Given the description of an element on the screen output the (x, y) to click on. 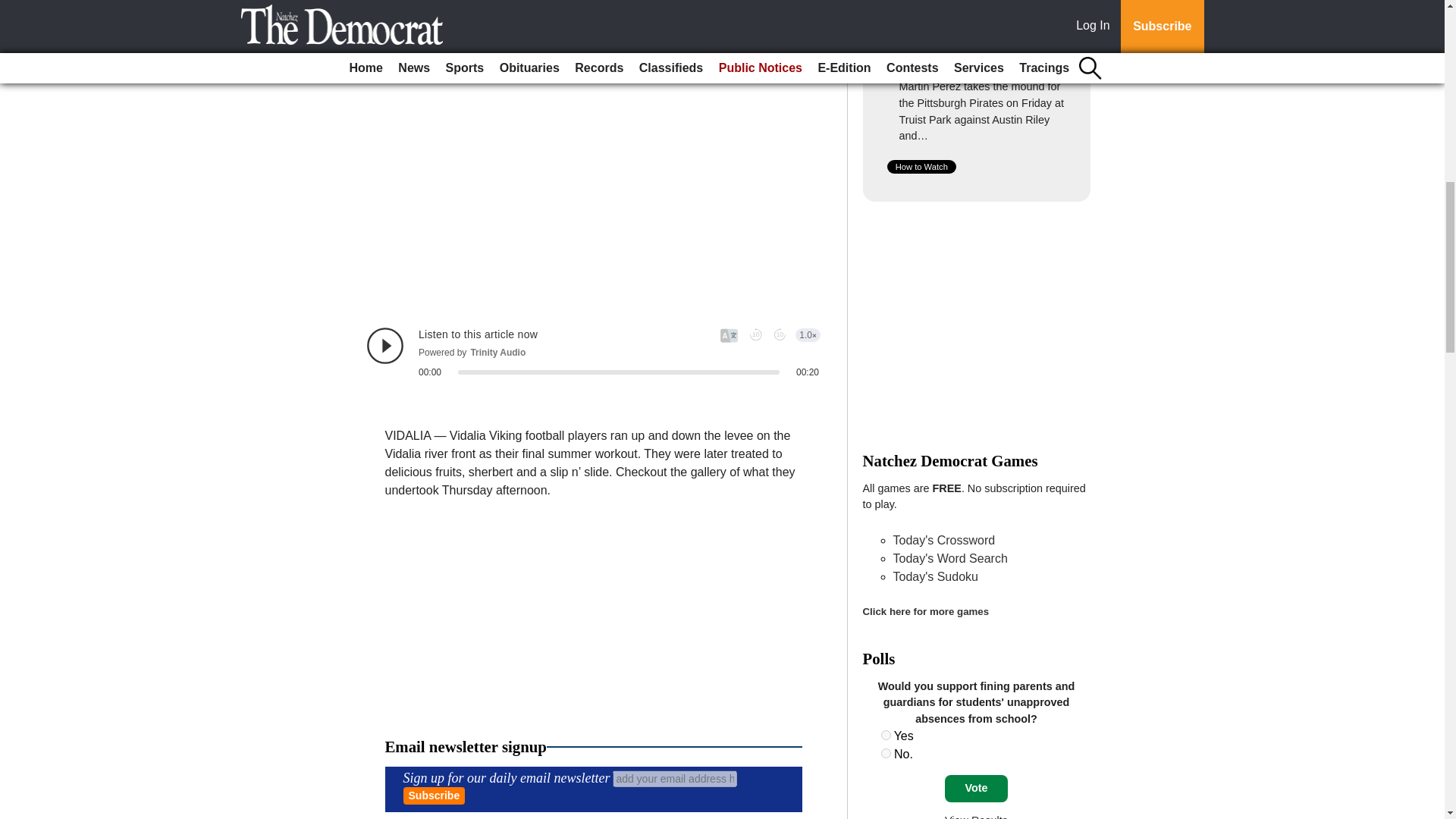
22421 (885, 735)
Subscribe (434, 795)
View Results Of This Poll (975, 816)
   Vote    (975, 788)
Subscribe (434, 795)
Trinity Audio Player (592, 352)
22422 (885, 753)
